Given the description of an element on the screen output the (x, y) to click on. 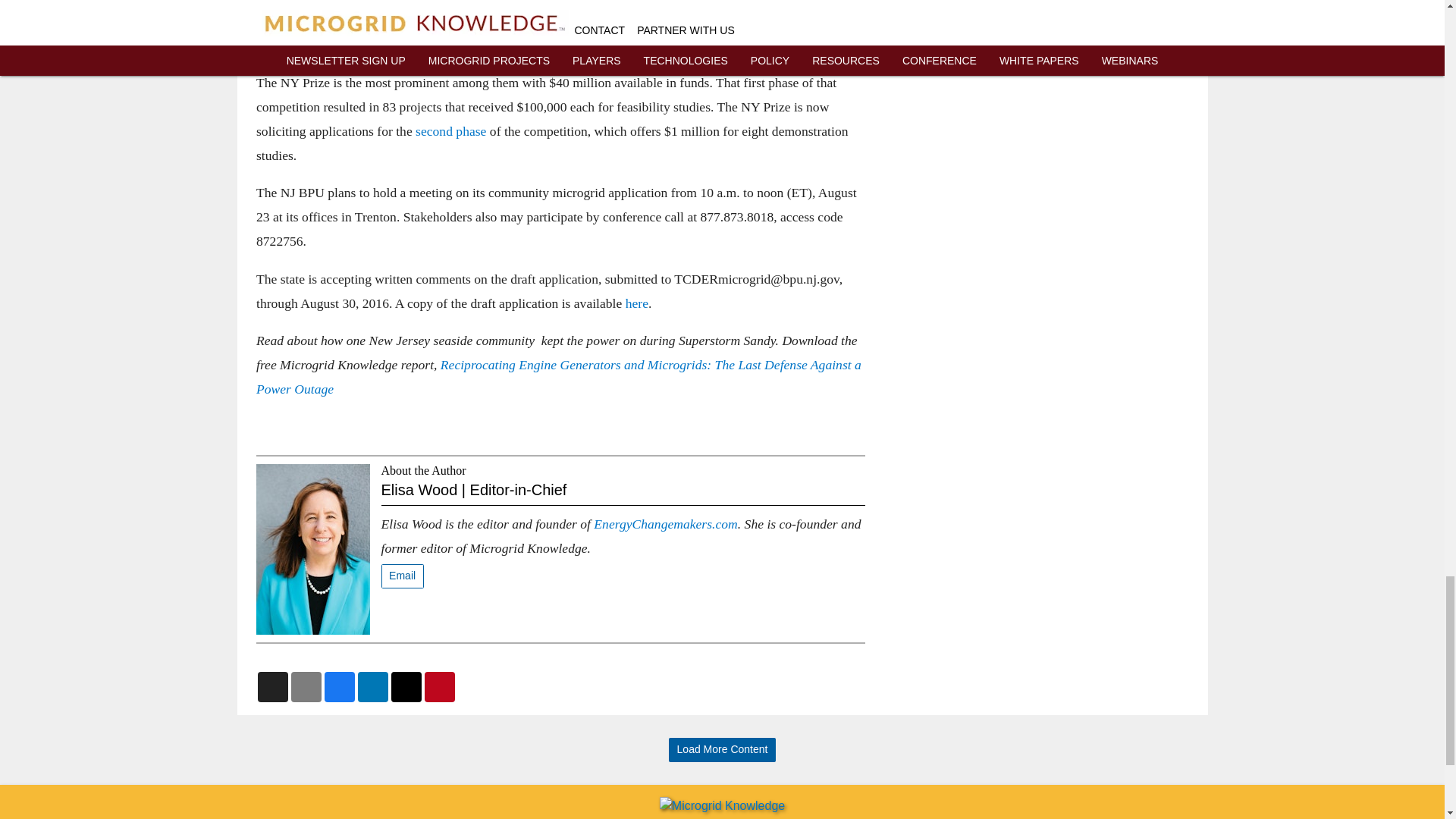
second phase (451, 130)
EnergyChangemakers.com (665, 523)
here (635, 303)
Email (401, 576)
